Given the description of an element on the screen output the (x, y) to click on. 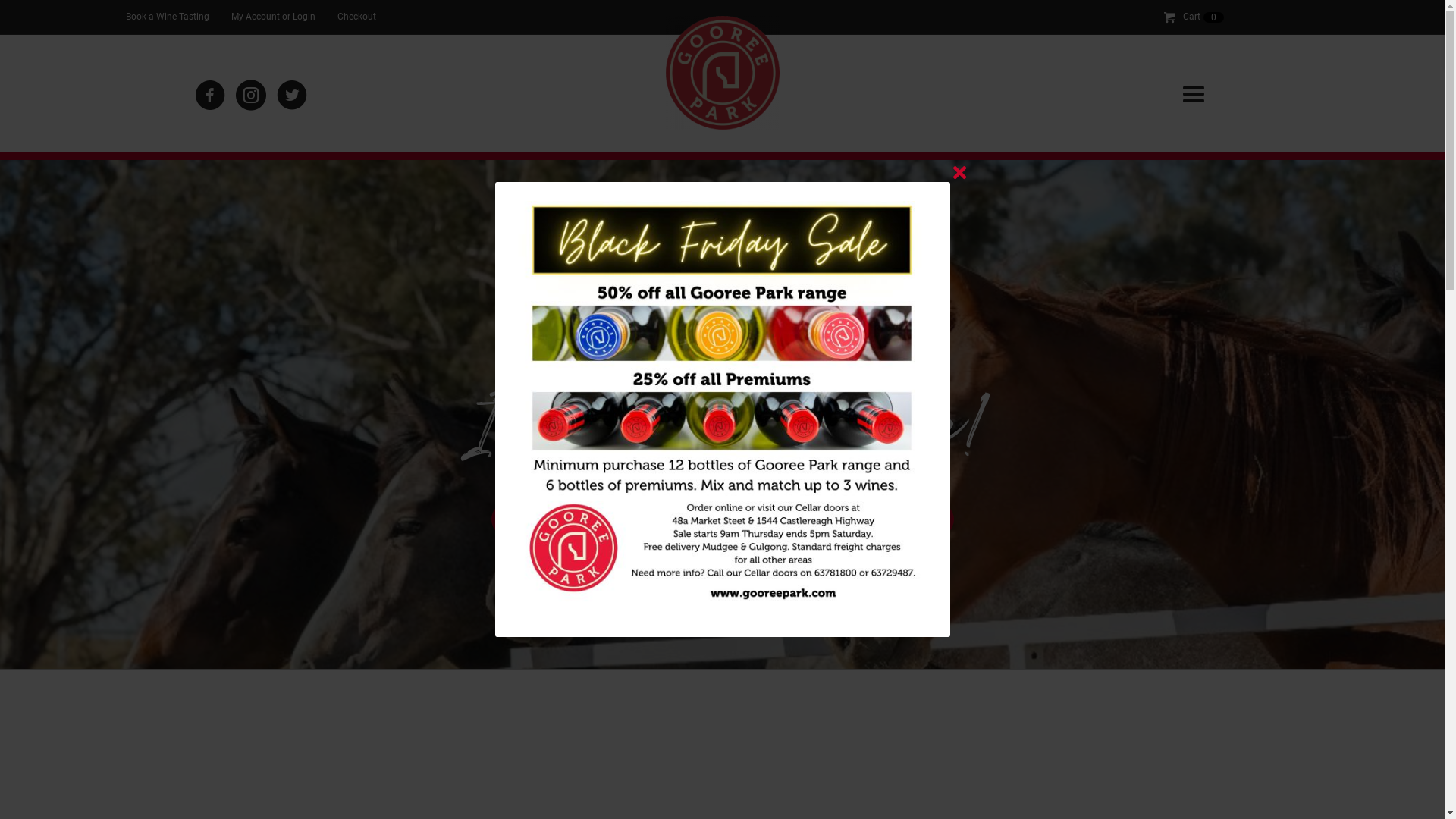
My Account or Login Element type: text (273, 17)
Explore Gooree Element type: text (839, 519)
Book a Wine Tasting Element type: text (167, 17)
Cart Element type: text (1183, 16)
Book a Wine Tasting Element type: text (604, 519)
gooree-logo-new-200 Element type: hover (722, 72)
Checkout Element type: text (356, 17)
